Given the description of an element on the screen output the (x, y) to click on. 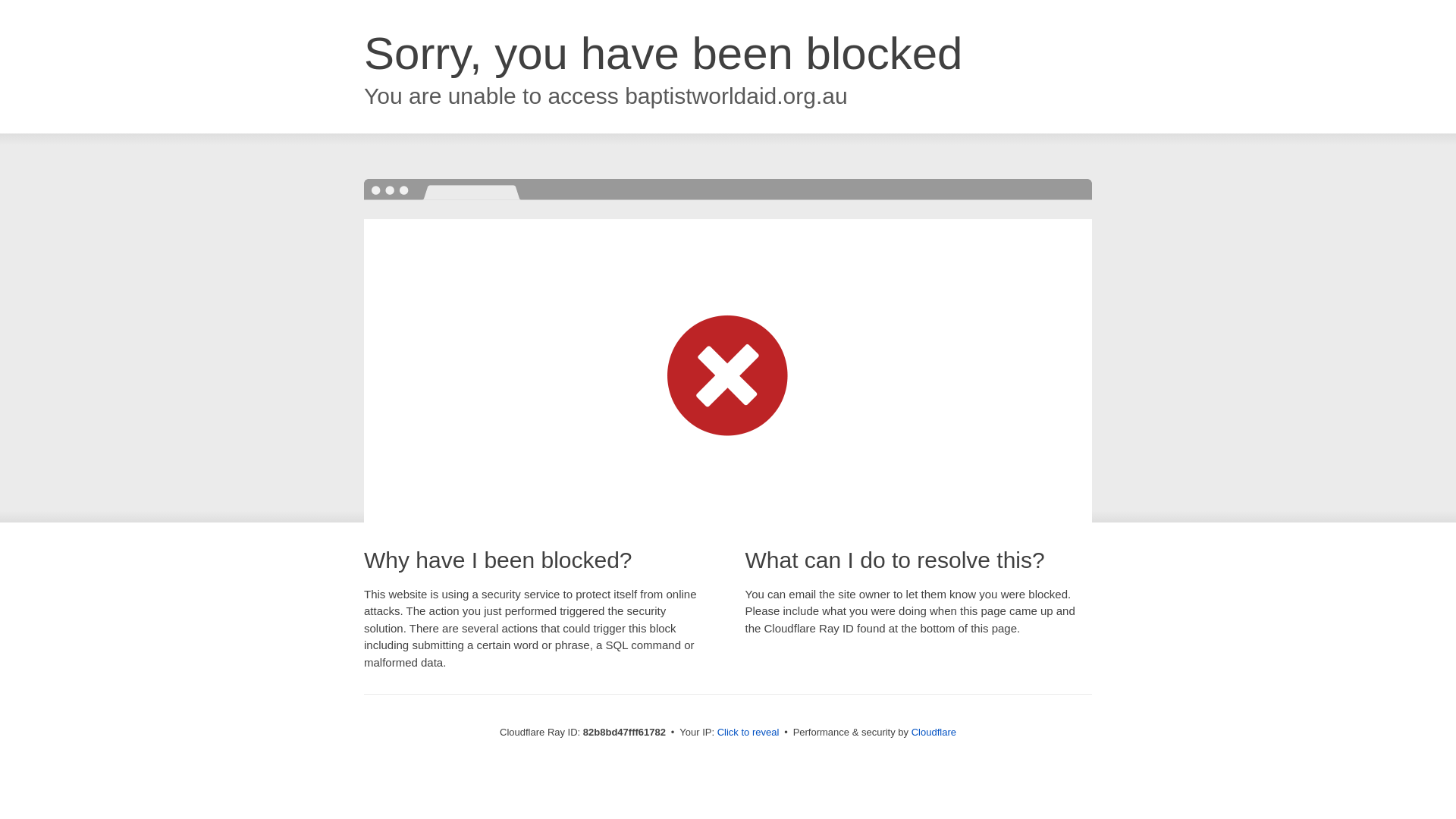
Click to reveal Element type: text (748, 732)
Cloudflare Element type: text (933, 731)
